Given the description of an element on the screen output the (x, y) to click on. 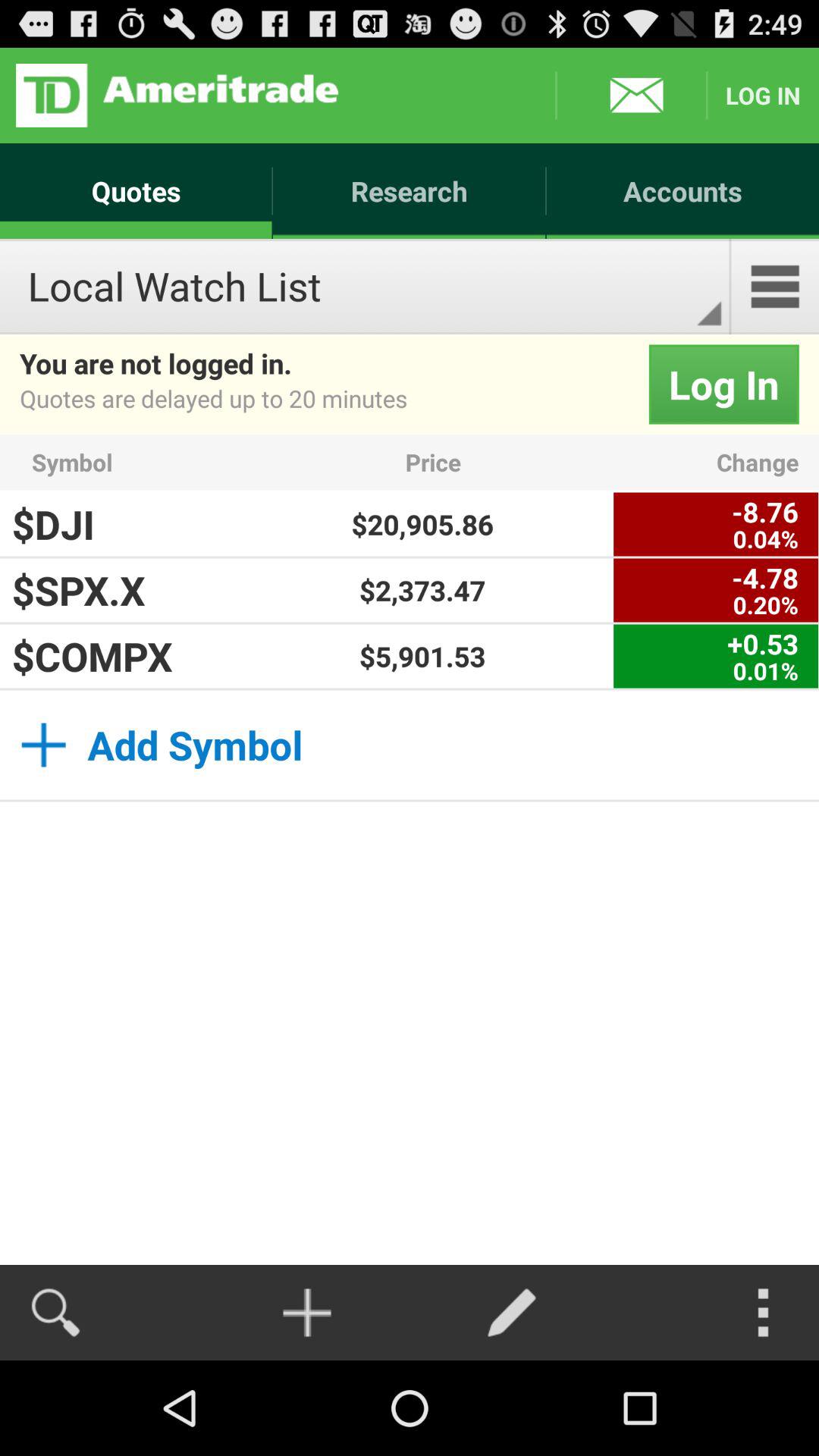
click app to the right of the local watch list (775, 286)
